Given the description of an element on the screen output the (x, y) to click on. 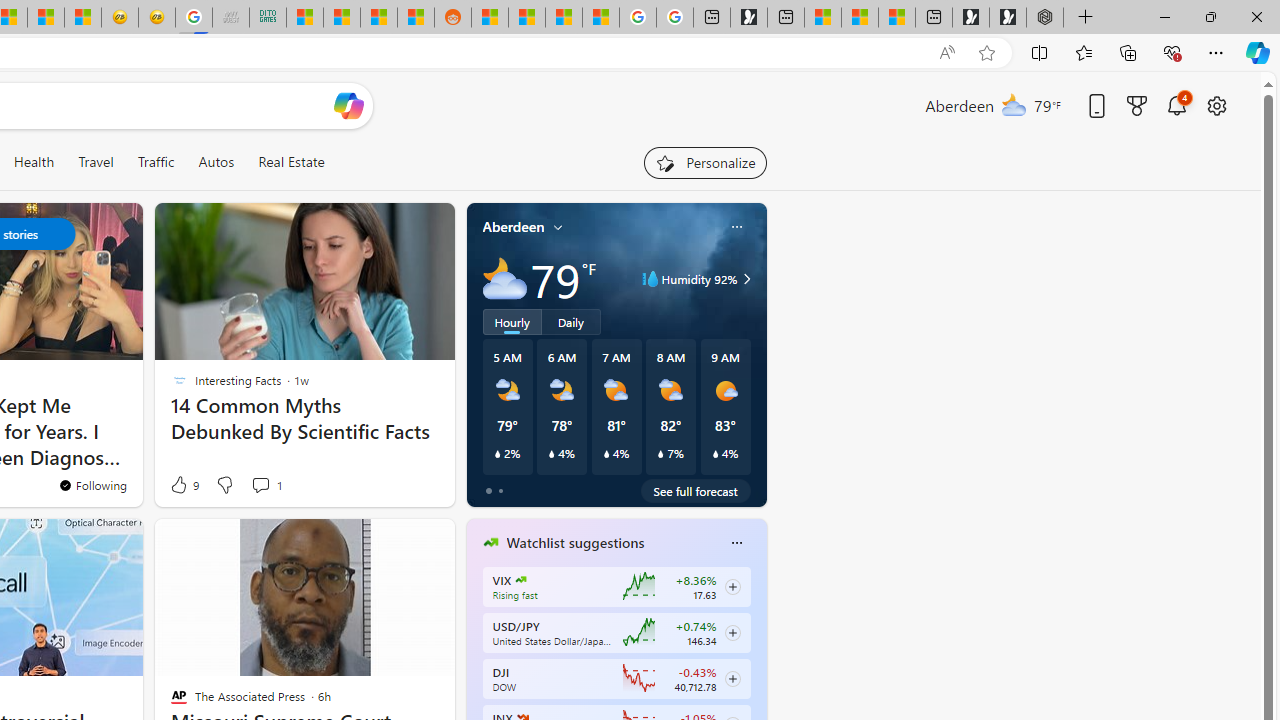
Daily (571, 321)
CBOE Market Volatility Index (520, 579)
You're following Newsweek (92, 485)
